Given the description of an element on the screen output the (x, y) to click on. 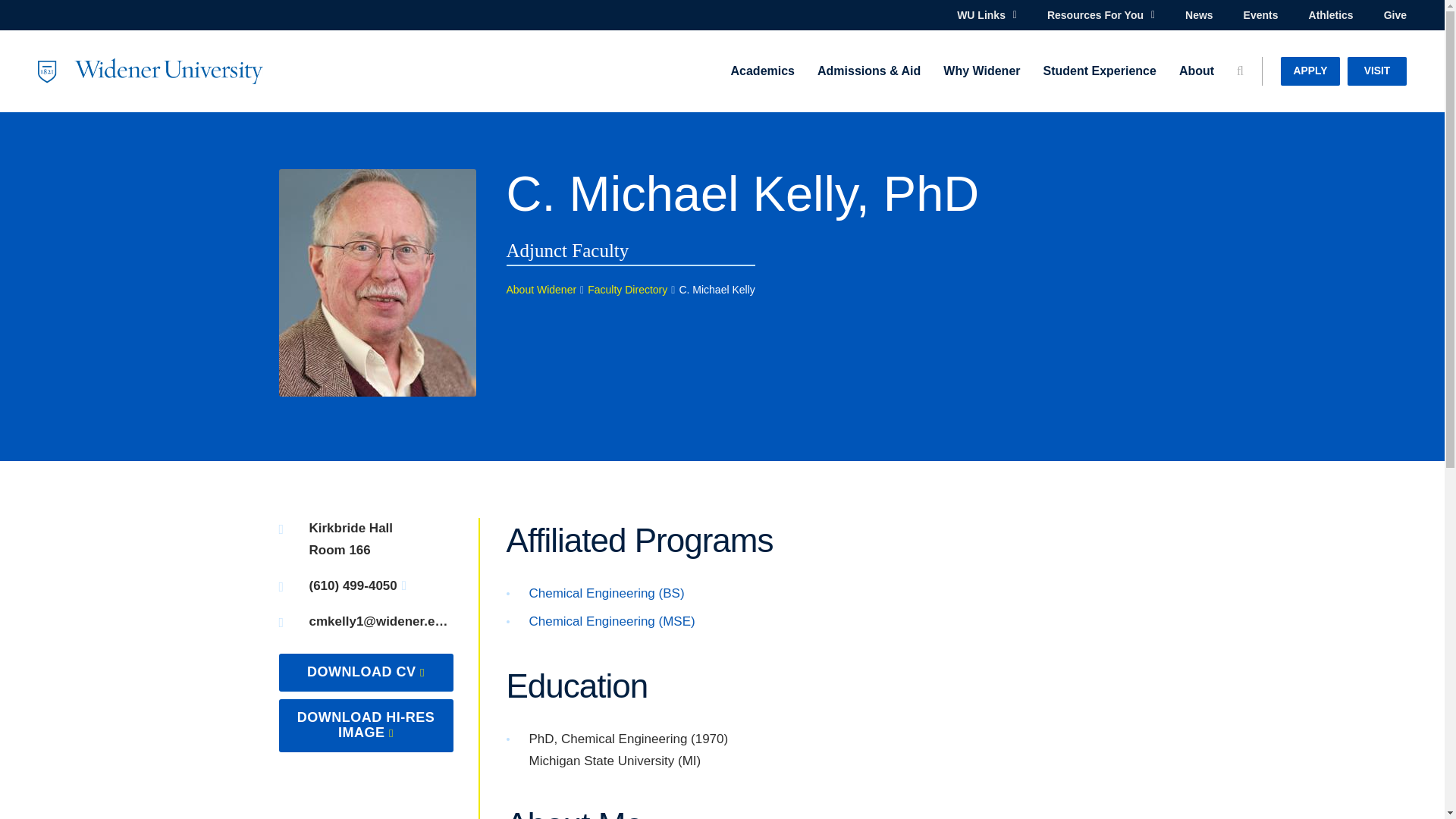
Athletics (1331, 15)
Widener Pride Athletics (1331, 15)
News (1198, 15)
Academics (762, 70)
Give (1395, 15)
Events (1260, 15)
Give to Widener (1395, 15)
